Given the description of an element on the screen output the (x, y) to click on. 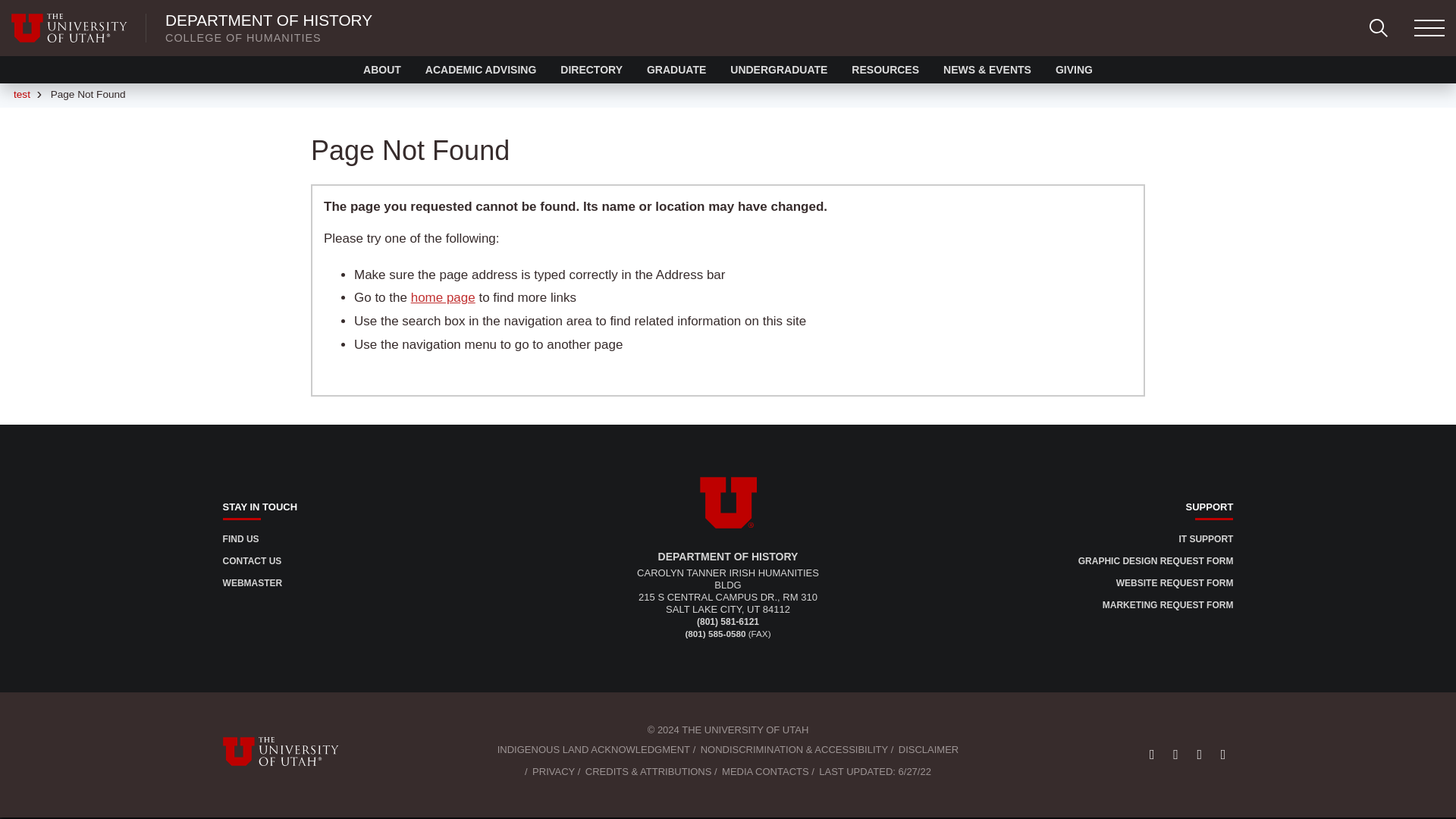
COLLEGE OF HUMANITIES (243, 37)
DEPARTMENT OF HISTORY (268, 19)
UNDERGRADUATE (778, 69)
ABOUT (382, 69)
ACADEMIC ADVISING (480, 69)
DIRECTORY (590, 69)
GRADUATE (675, 69)
